Given the description of an element on the screen output the (x, y) to click on. 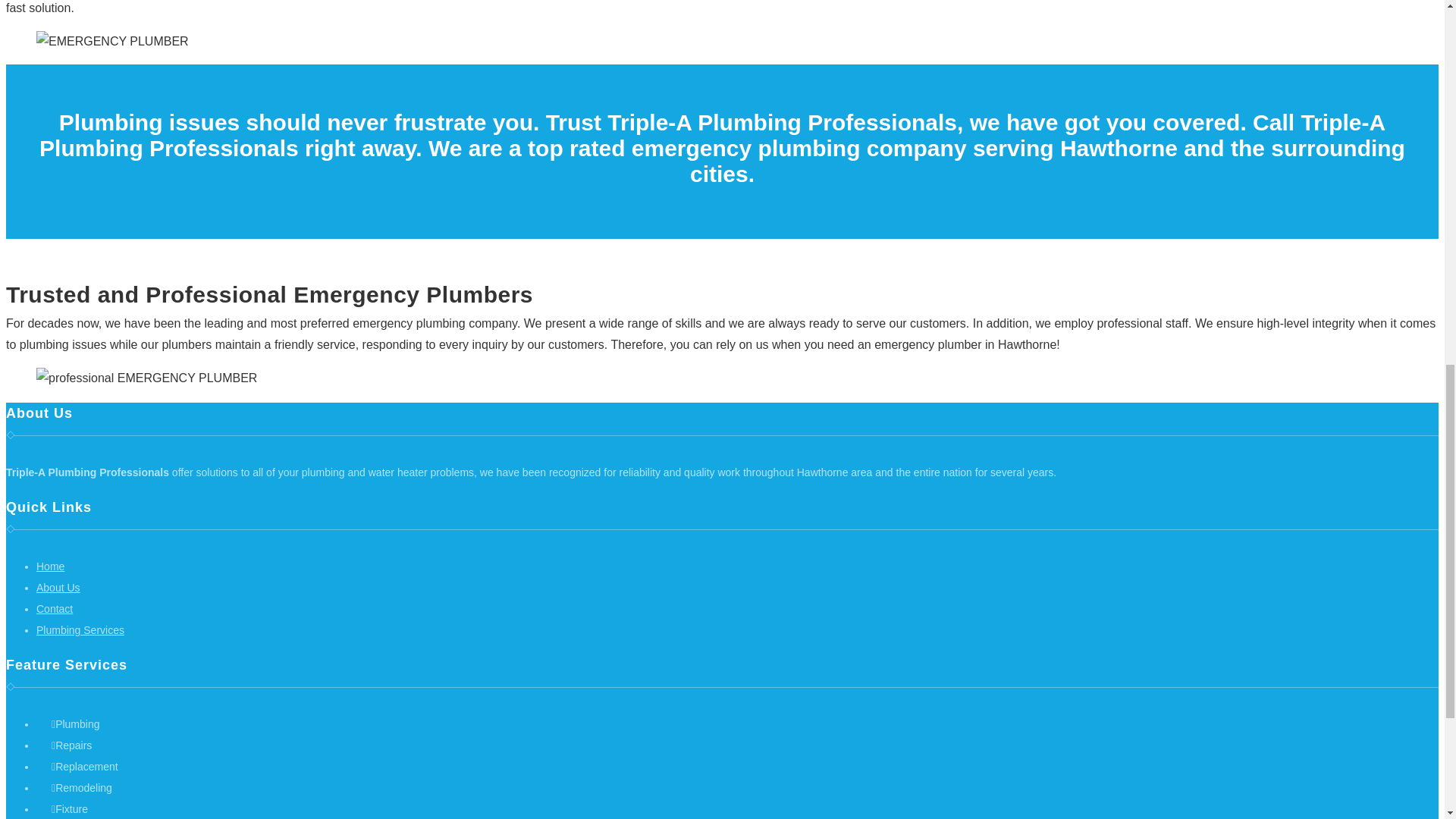
professional EMERGENCY PLUMBER (146, 378)
Plumbing Services (79, 630)
Contact (54, 608)
Home (50, 566)
EMERGENCY-PLUMBER (112, 41)
About Us (58, 587)
